Given the description of an element on the screen output the (x, y) to click on. 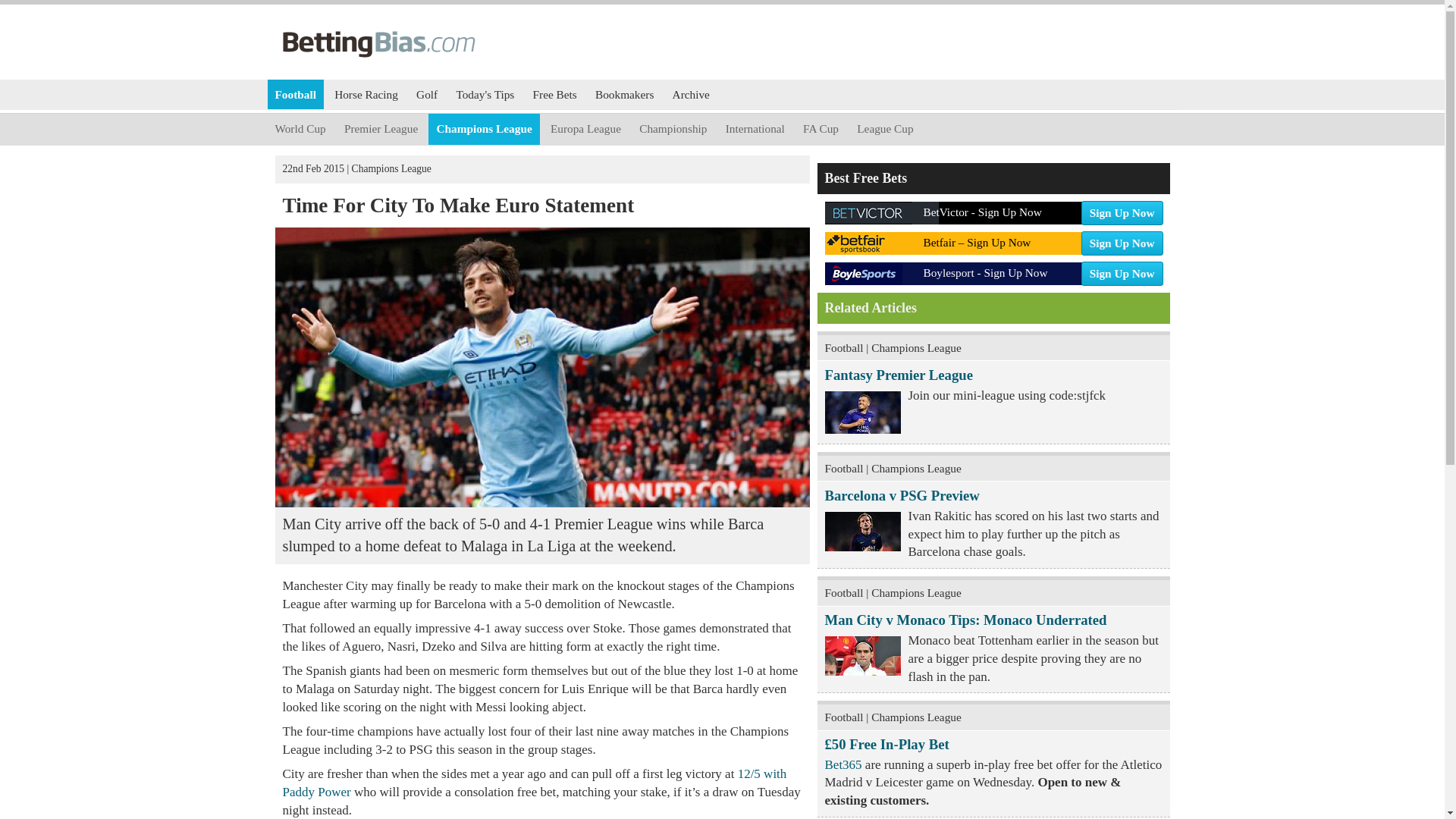
World Cup (299, 128)
Football (993, 269)
Europa League (294, 93)
Golf (585, 128)
Bookmakers (427, 93)
Man City v Monaco Tips: Monaco Underrated (624, 93)
Championship (965, 619)
Archive (672, 128)
Premier League (691, 93)
Fantasy Premier League (380, 128)
League Cup (899, 374)
Free Bets (884, 128)
International (555, 93)
FA Cup (754, 128)
